Given the description of an element on the screen output the (x, y) to click on. 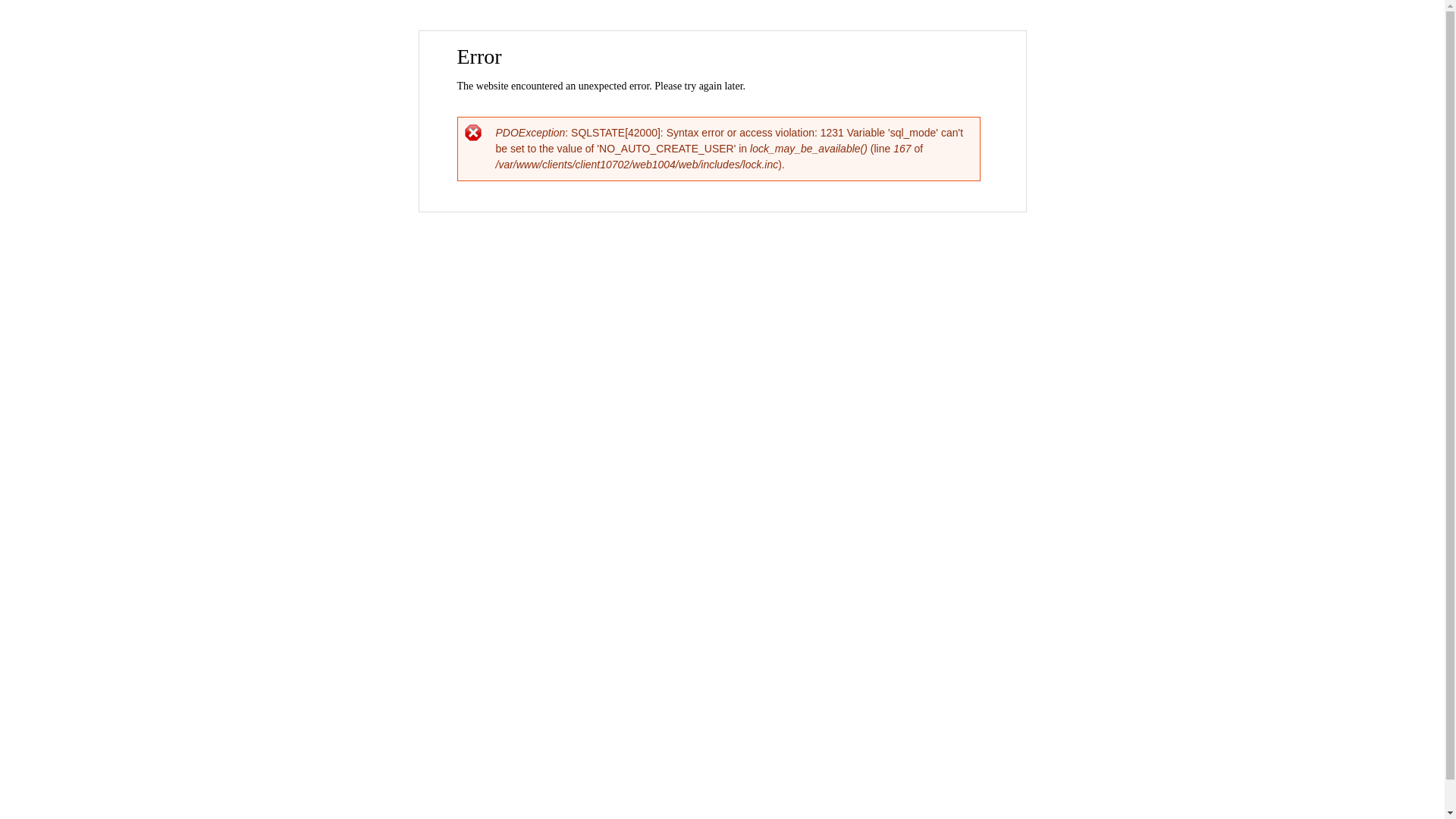
Skip to main content Element type: text (690, 31)
